Given the description of an element on the screen output the (x, y) to click on. 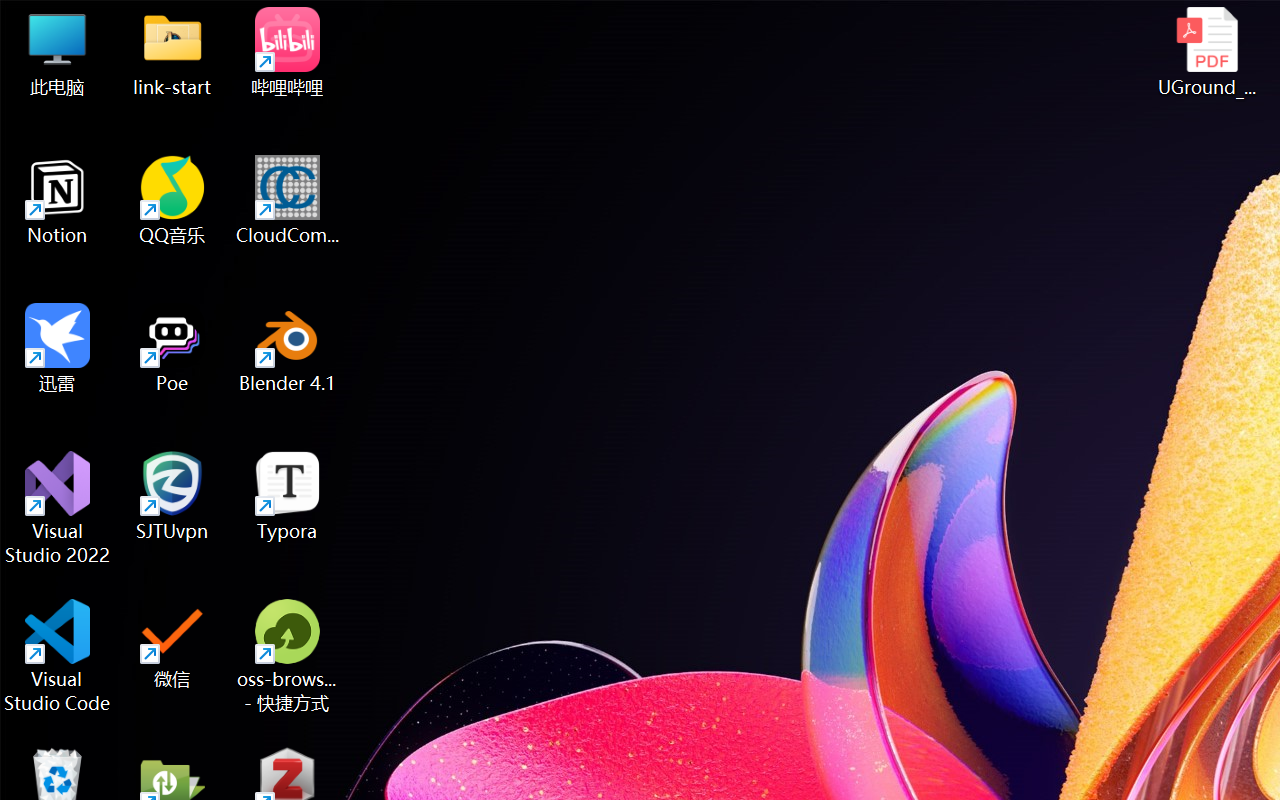
CloudCompare (287, 200)
Typora (287, 496)
Visual Studio 2022 (57, 508)
Poe (172, 348)
Blender 4.1 (287, 348)
SJTUvpn (172, 496)
Notion (57, 200)
Visual Studio Code (57, 656)
UGround_paper.pdf (1206, 52)
